Given the description of an element on the screen output the (x, y) to click on. 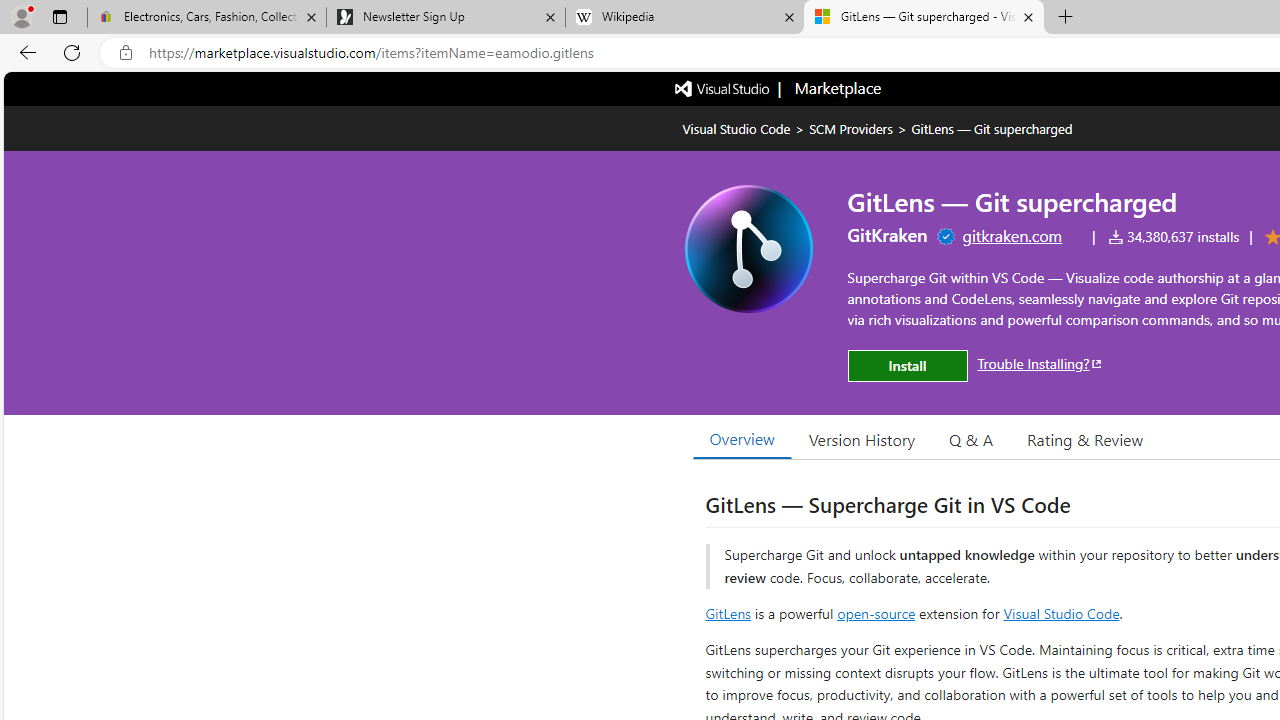
Install (907, 365)
More from GitKraken publisher (887, 234)
Visual Studio logo (723, 87)
Overview (742, 439)
Q & A (971, 439)
gitkraken.com (1012, 235)
Version History (862, 439)
Visual Studio Code (1061, 612)
